Given the description of an element on the screen output the (x, y) to click on. 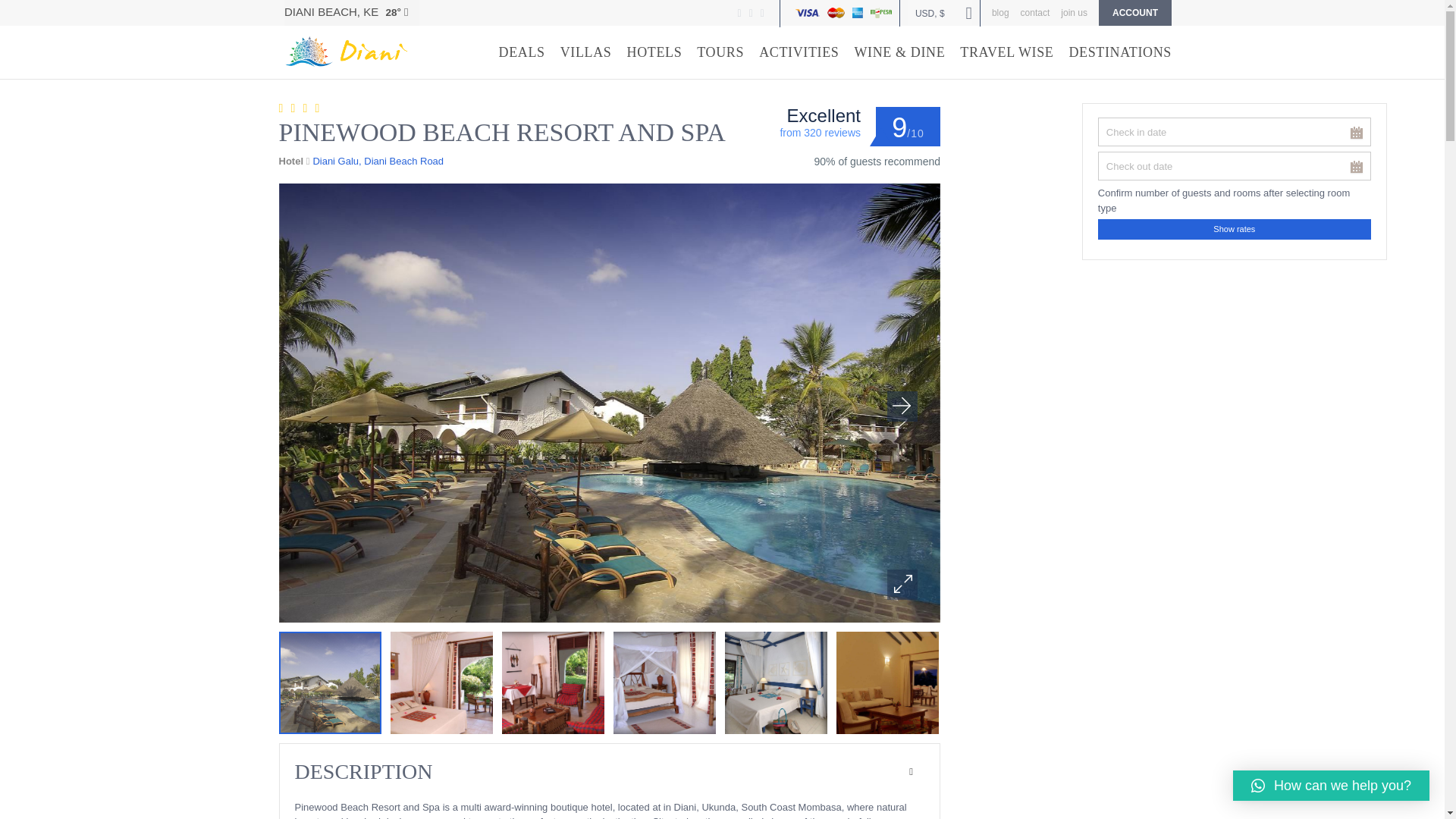
DESTINATIONS (1120, 51)
VILLAS (585, 51)
Show rates (1234, 229)
contact (1034, 12)
... (1355, 167)
TRAVEL WISE (1005, 51)
HOTELS (653, 51)
... (1355, 133)
TOURS (720, 51)
ACTIVITIES (798, 51)
DEALS (521, 51)
ACCOUNT (1135, 12)
blog (1000, 12)
join us (1074, 12)
Show rates (1234, 229)
